Given the description of an element on the screen output the (x, y) to click on. 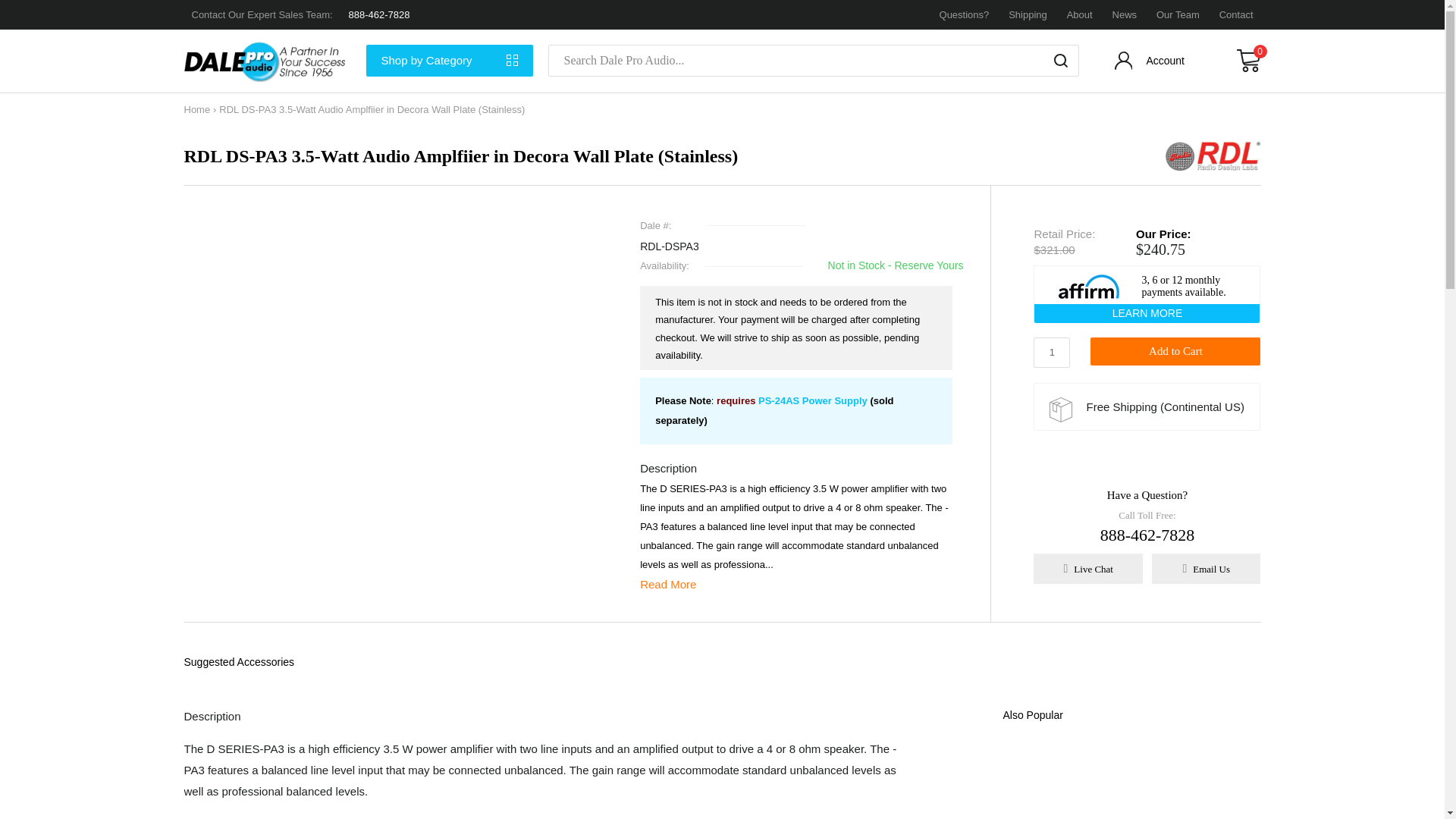
Account  (1151, 63)
1 (1051, 352)
Account (1151, 63)
News (1124, 14)
Contact (1236, 14)
About (1080, 14)
Shop by Category (448, 60)
Questions? (964, 14)
Shipping (1027, 14)
RDL PS-24AS Power Supply (812, 400)
